Given the description of an element on the screen output the (x, y) to click on. 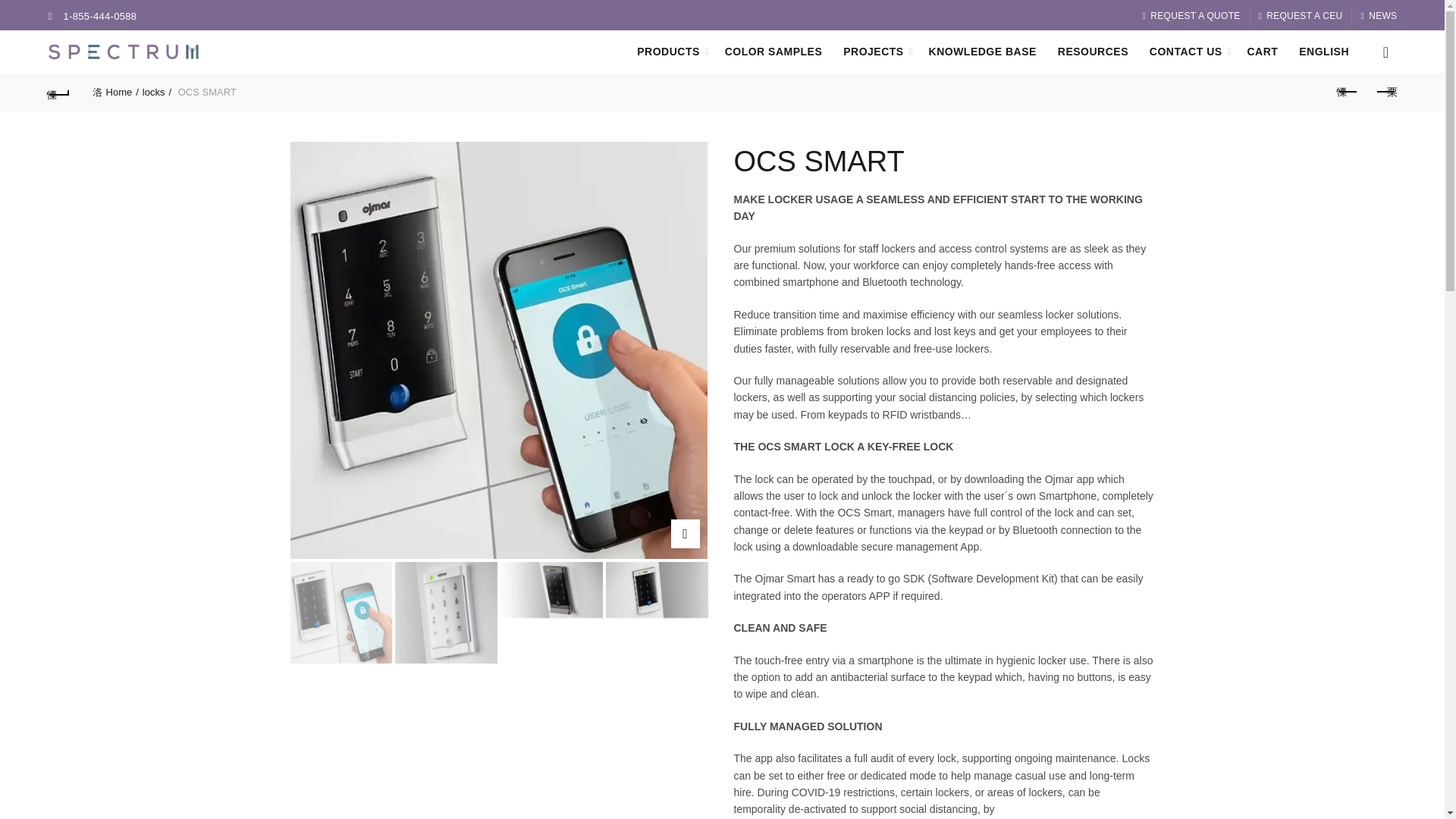
English (1323, 51)
